Given the description of an element on the screen output the (x, y) to click on. 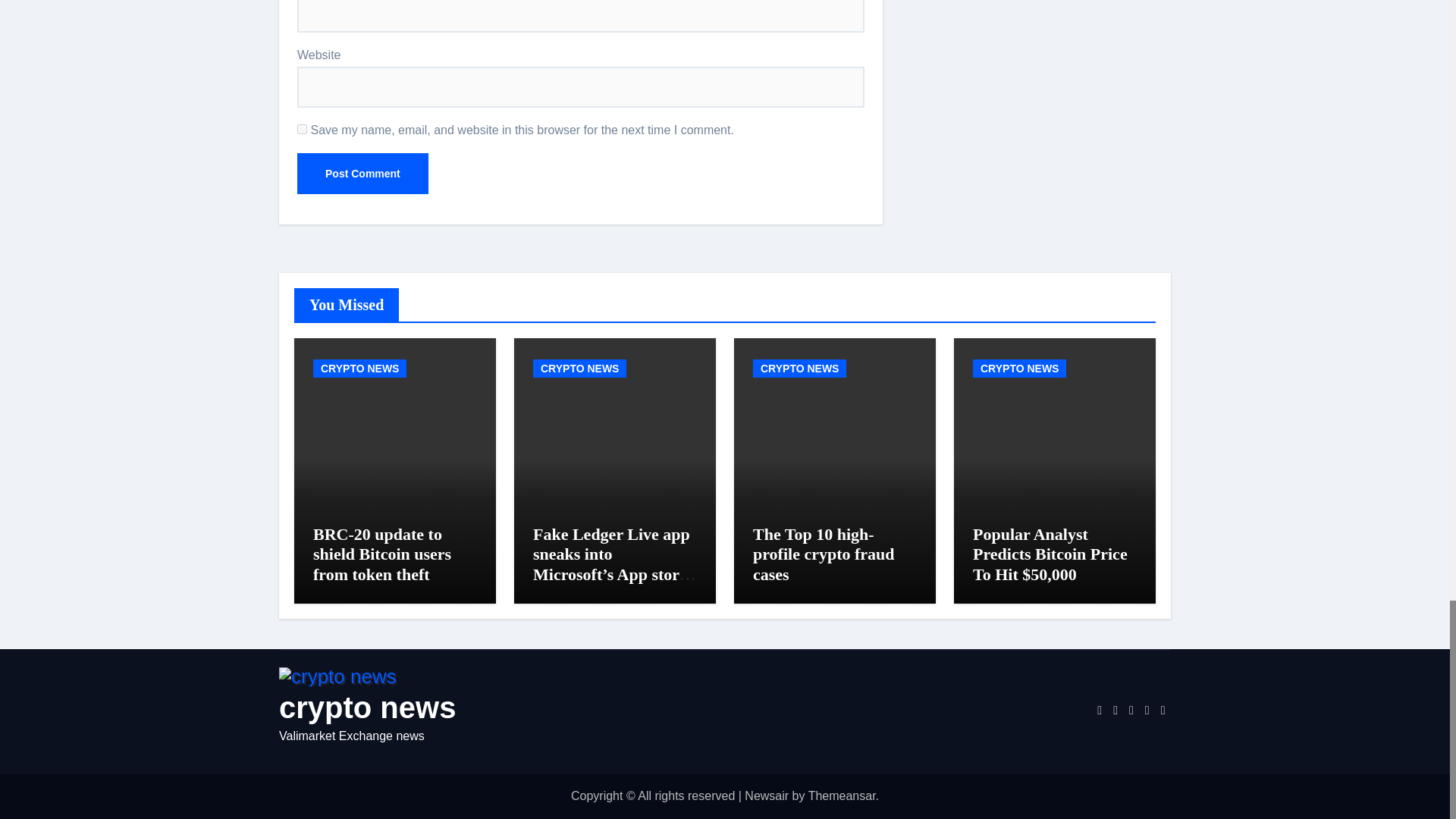
yes (302, 129)
Post Comment (362, 173)
